Given the description of an element on the screen output the (x, y) to click on. 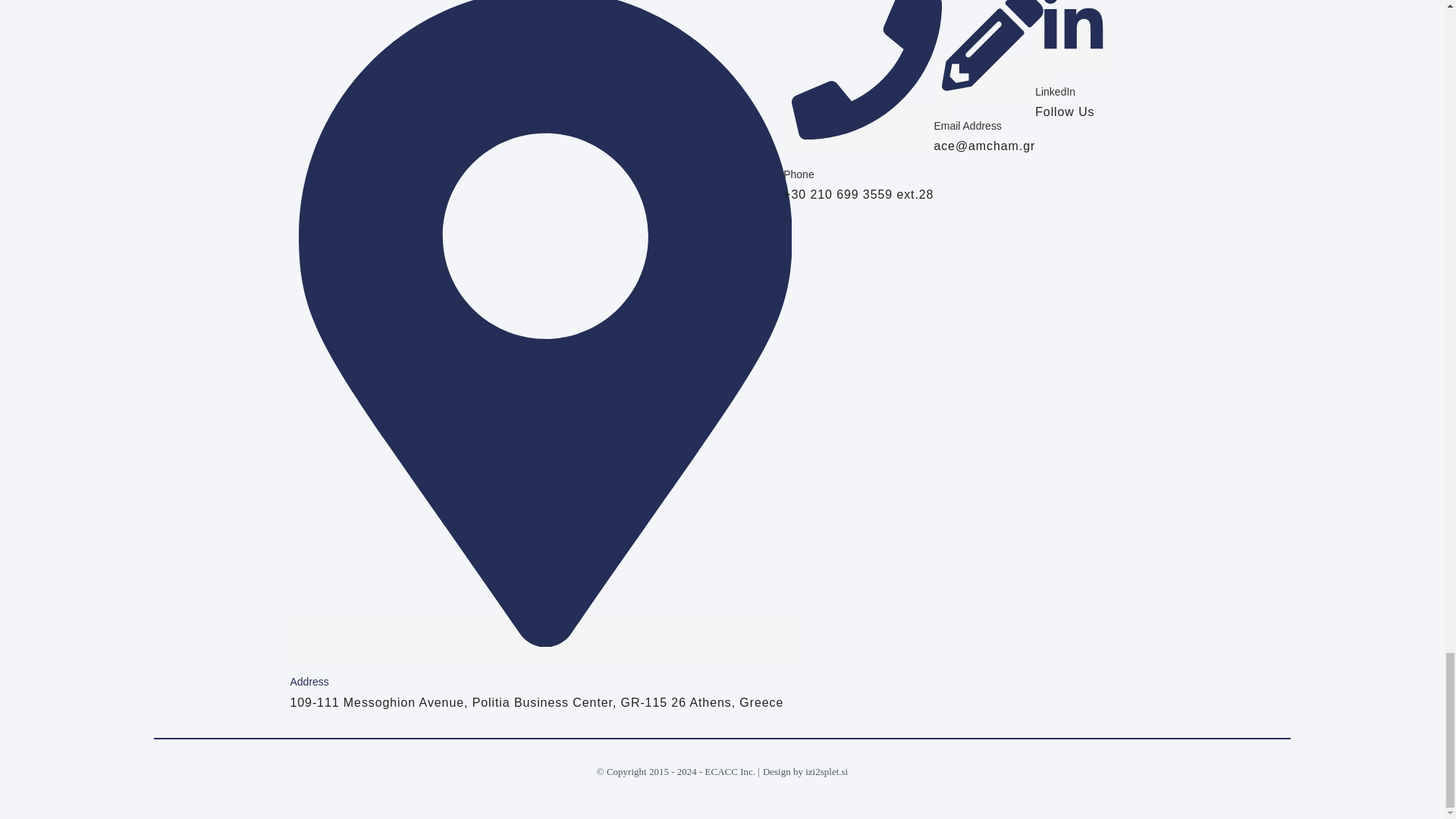
Phone (798, 174)
LinkedIn (1055, 91)
izi2splet.si (826, 771)
Email Address (967, 125)
